Given the description of an element on the screen output the (x, y) to click on. 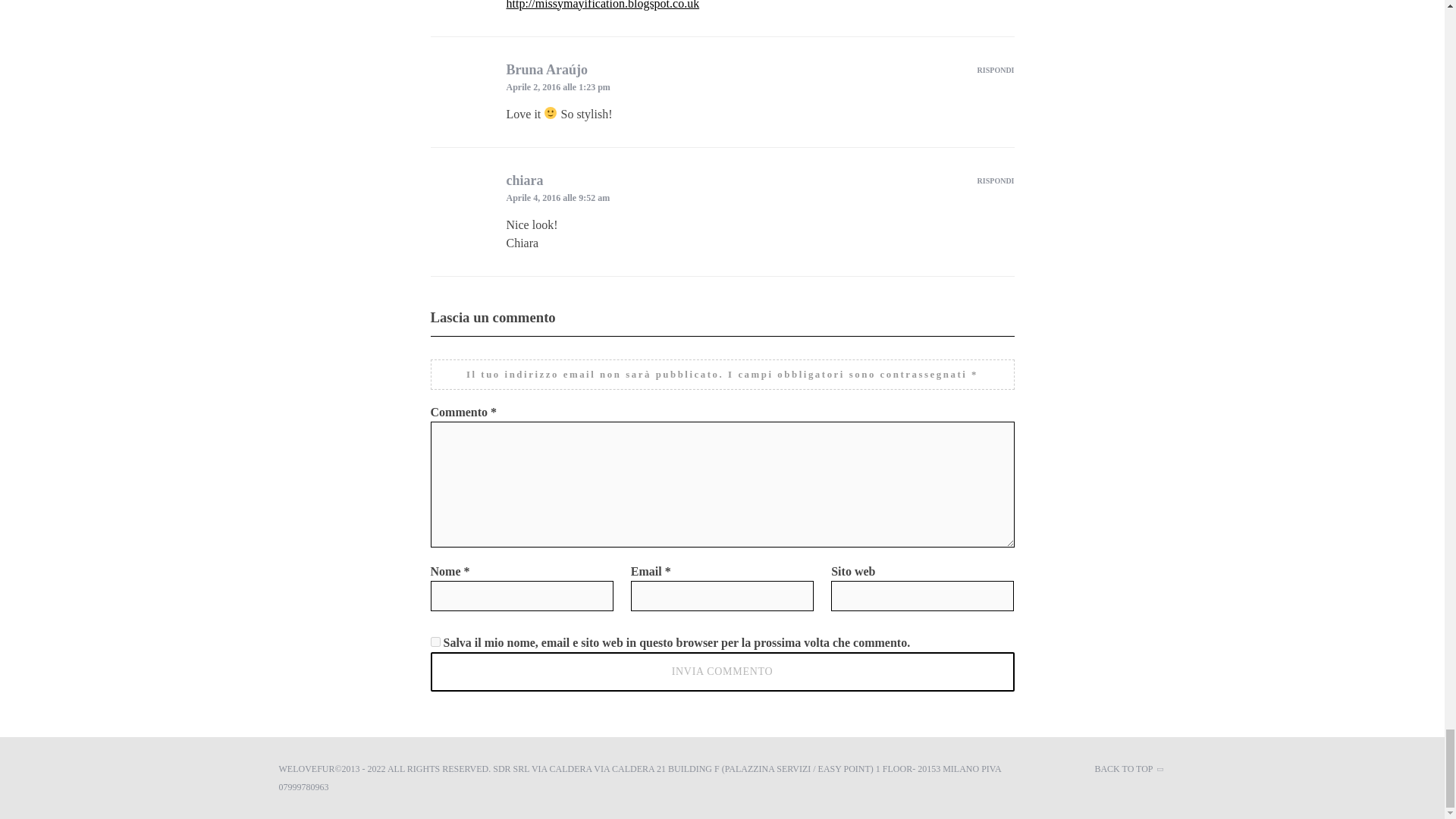
Invia commento (722, 671)
yes (435, 642)
